Given the description of an element on the screen output the (x, y) to click on. 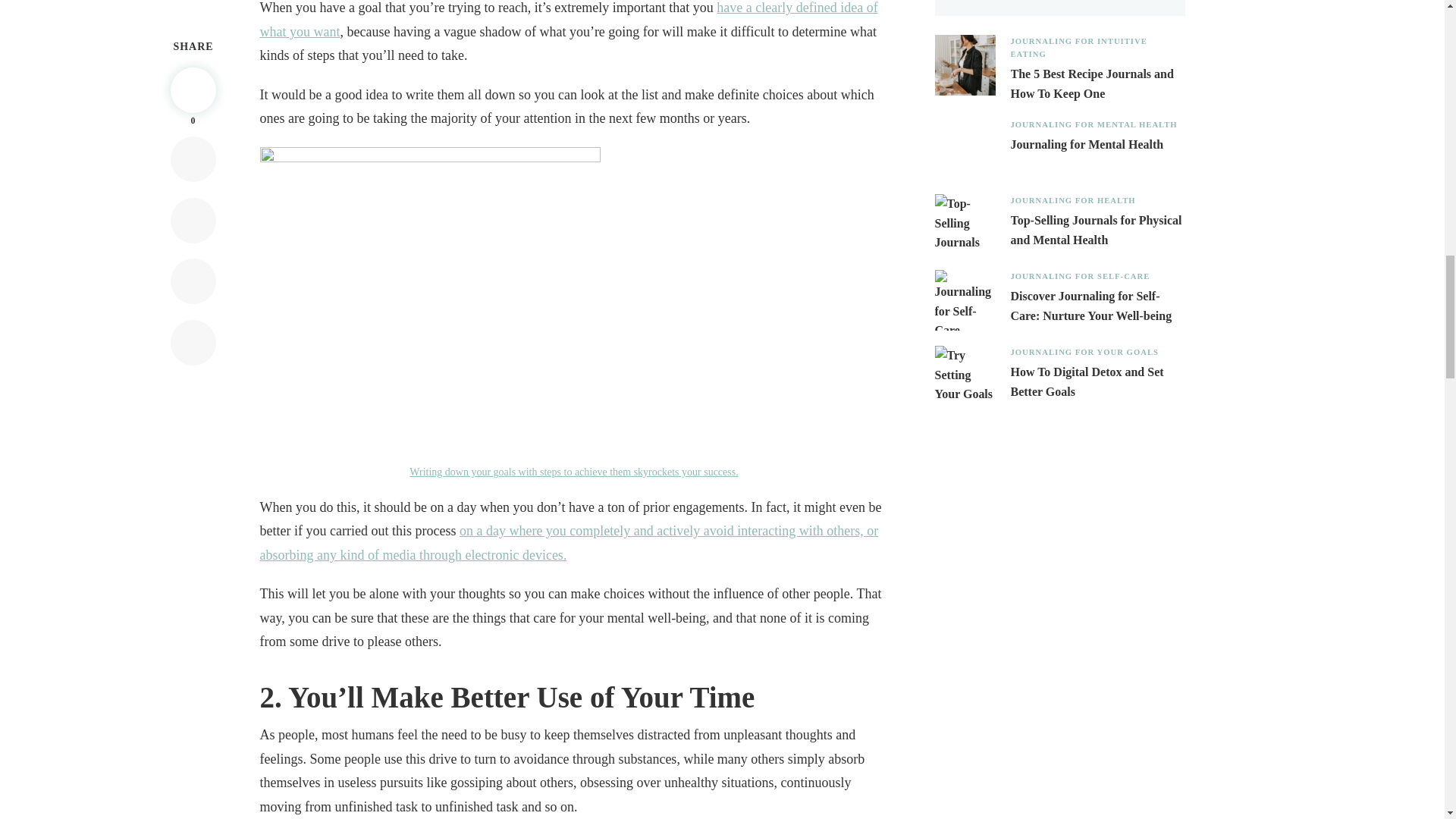
have a clearly defined idea of what you want (568, 19)
